Given the description of an element on the screen output the (x, y) to click on. 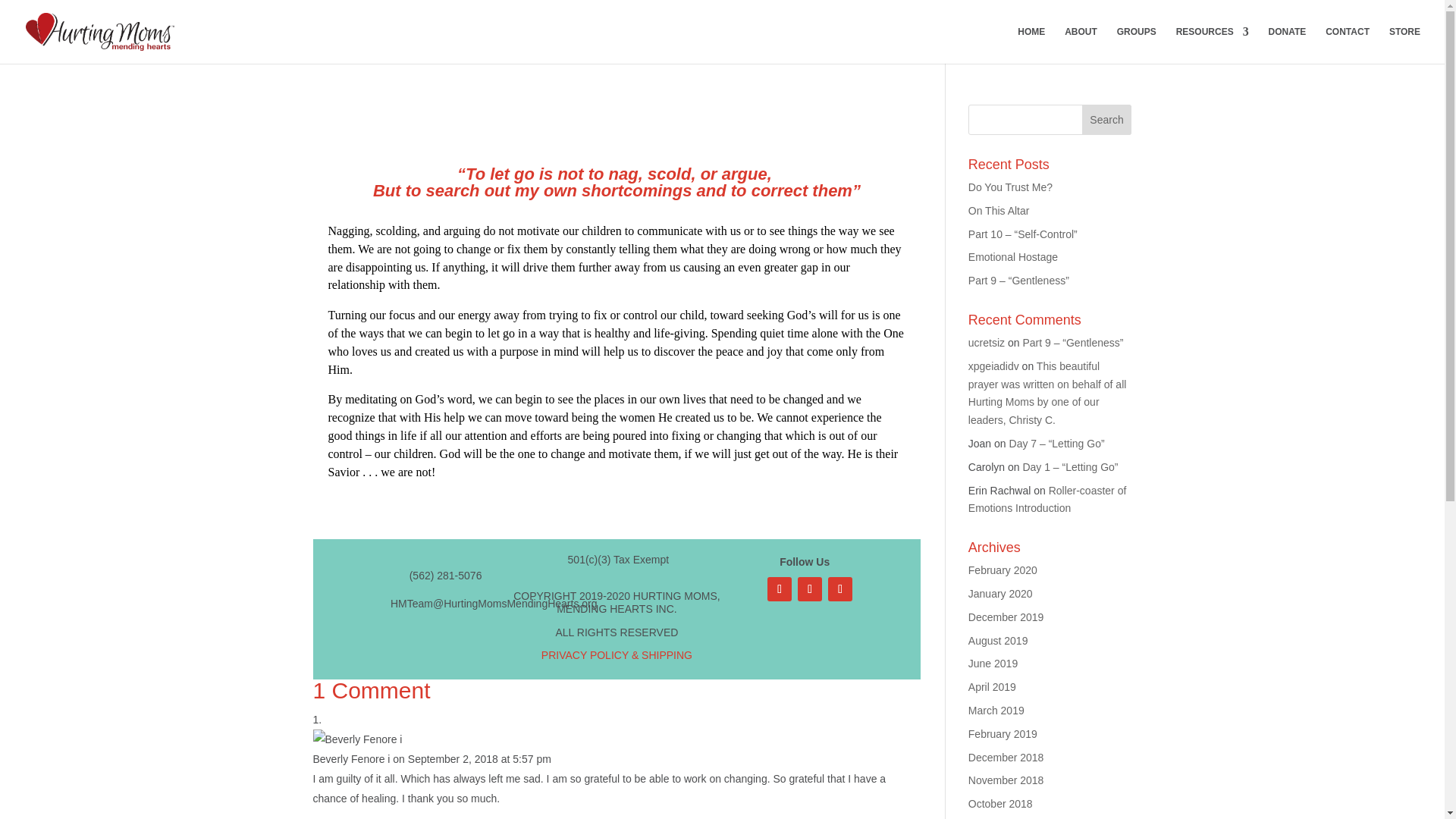
xpgeiadidv (993, 366)
Search (1106, 119)
Emotional Hostage (1013, 256)
Follow on Youtube (839, 589)
DONATE (1287, 44)
Do You Trust Me? (1010, 186)
RESOURCES (1212, 44)
On This Altar (998, 210)
Follow on Instagram (809, 589)
GROUPS (1136, 44)
ucretsiz (986, 342)
Search (1106, 119)
Follow on Facebook (779, 589)
CONTACT (1347, 44)
